Given the description of an element on the screen output the (x, y) to click on. 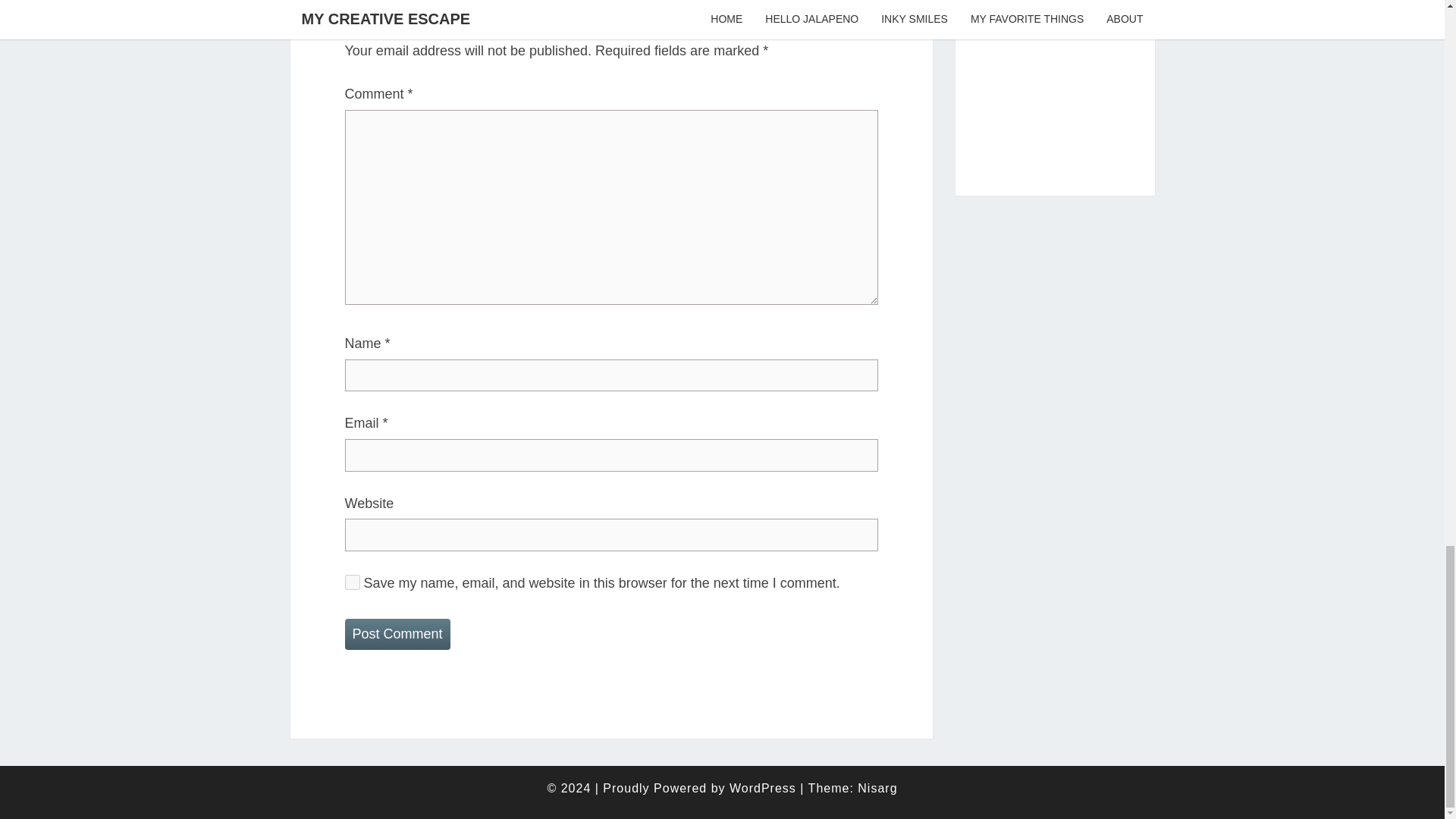
Nisarg (876, 788)
Post Comment (396, 634)
Post Comment (396, 634)
Erin (1055, 85)
yes (351, 581)
WordPress (762, 788)
